Given the description of an element on the screen output the (x, y) to click on. 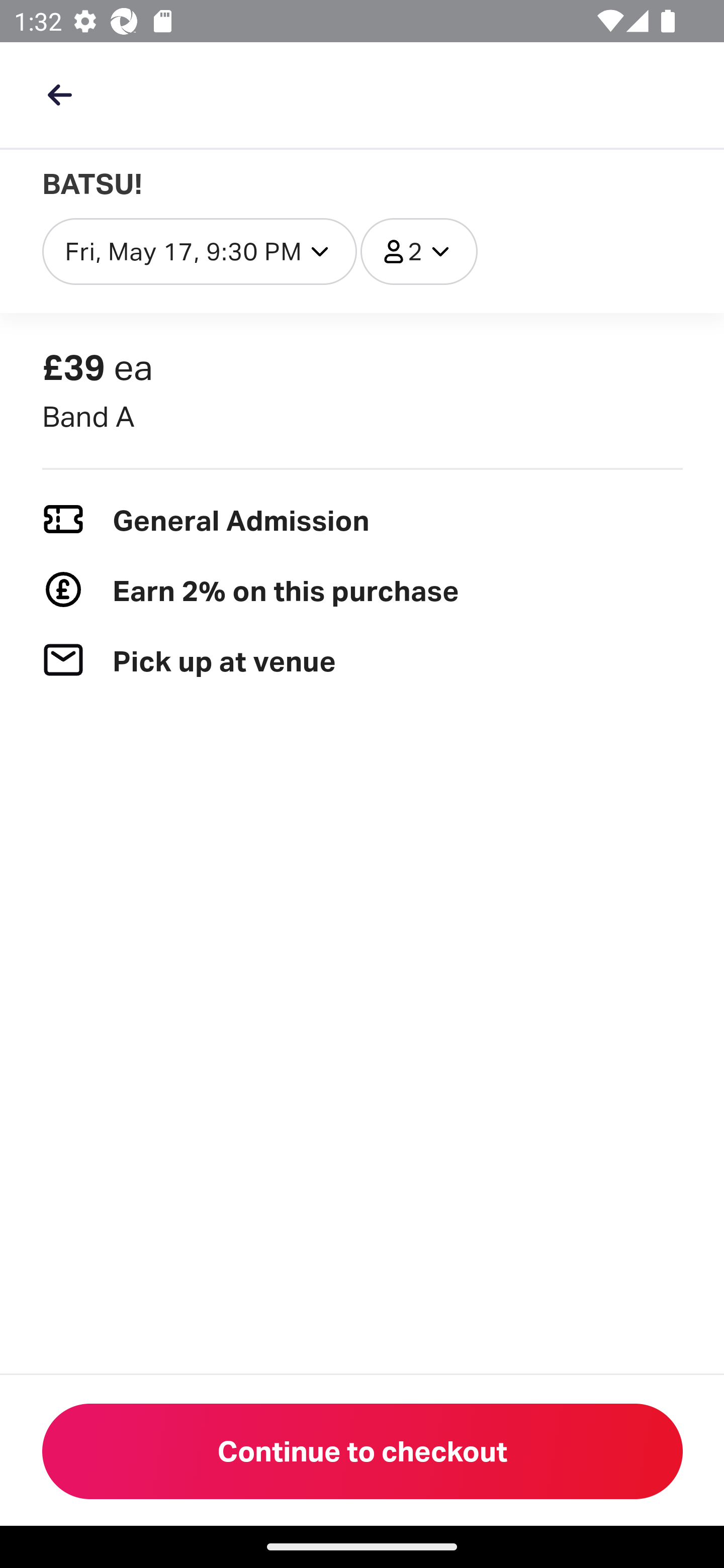
back button (59, 94)
Fri, May 17, 9:30 PM (198, 251)
2 (418, 251)
Continue to checkout (362, 1450)
